Given the description of an element on the screen output the (x, y) to click on. 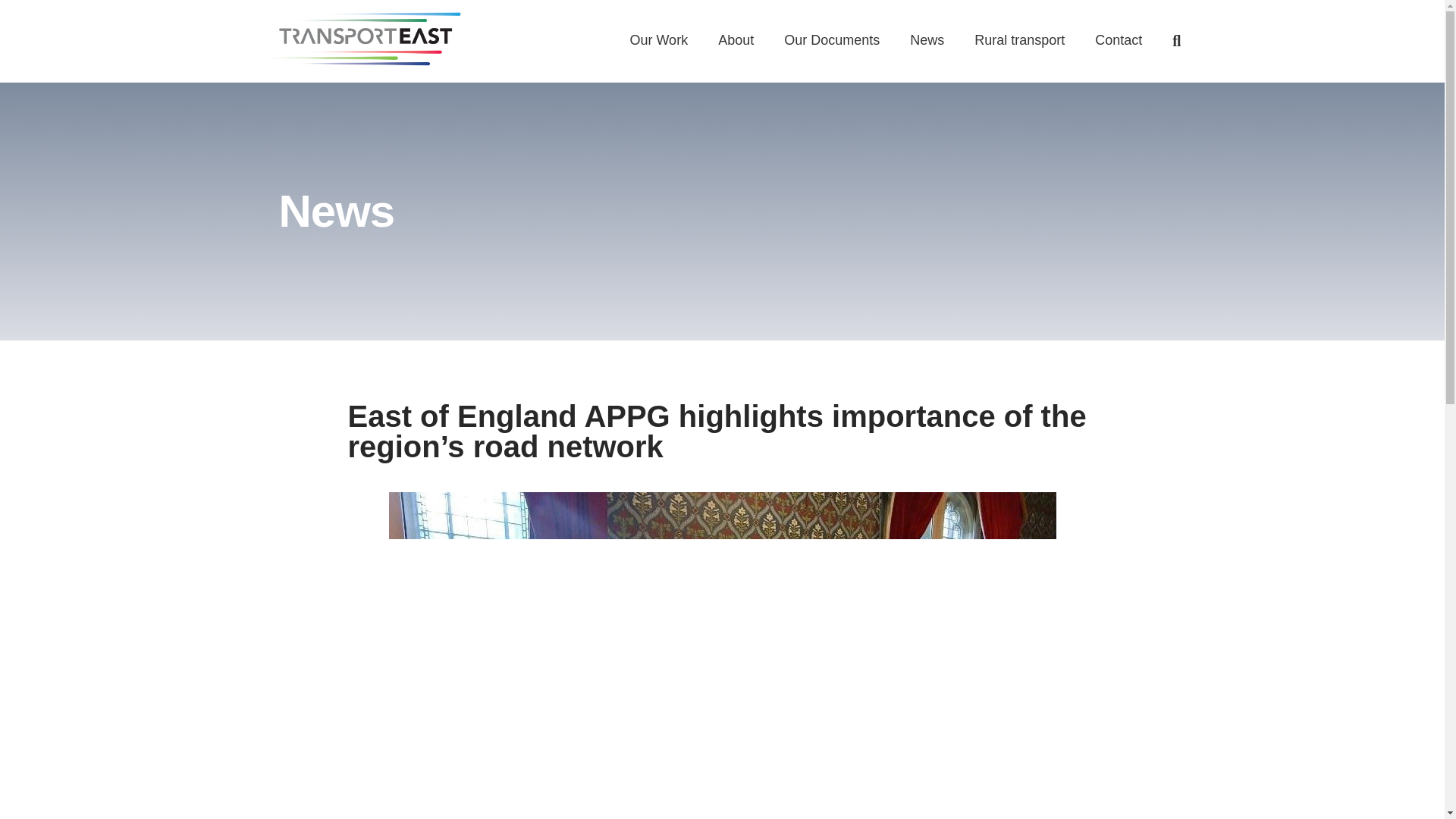
Our Work (658, 40)
About (735, 40)
News (927, 40)
Contact (1118, 40)
Rural transport (1019, 40)
Our Documents (831, 40)
